Given the description of an element on the screen output the (x, y) to click on. 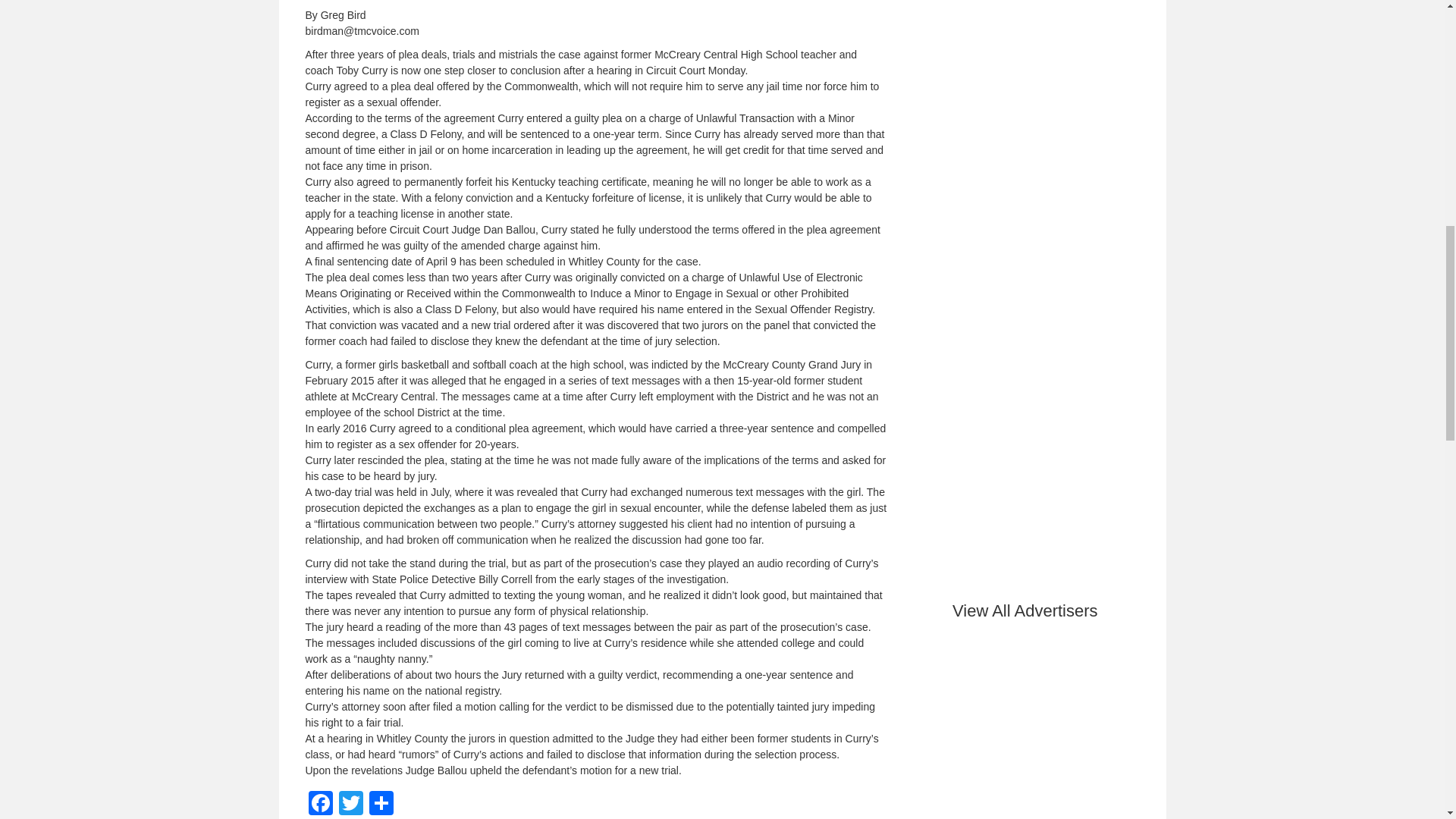
Facebook (319, 805)
Twitter (349, 805)
